Given the description of an element on the screen output the (x, y) to click on. 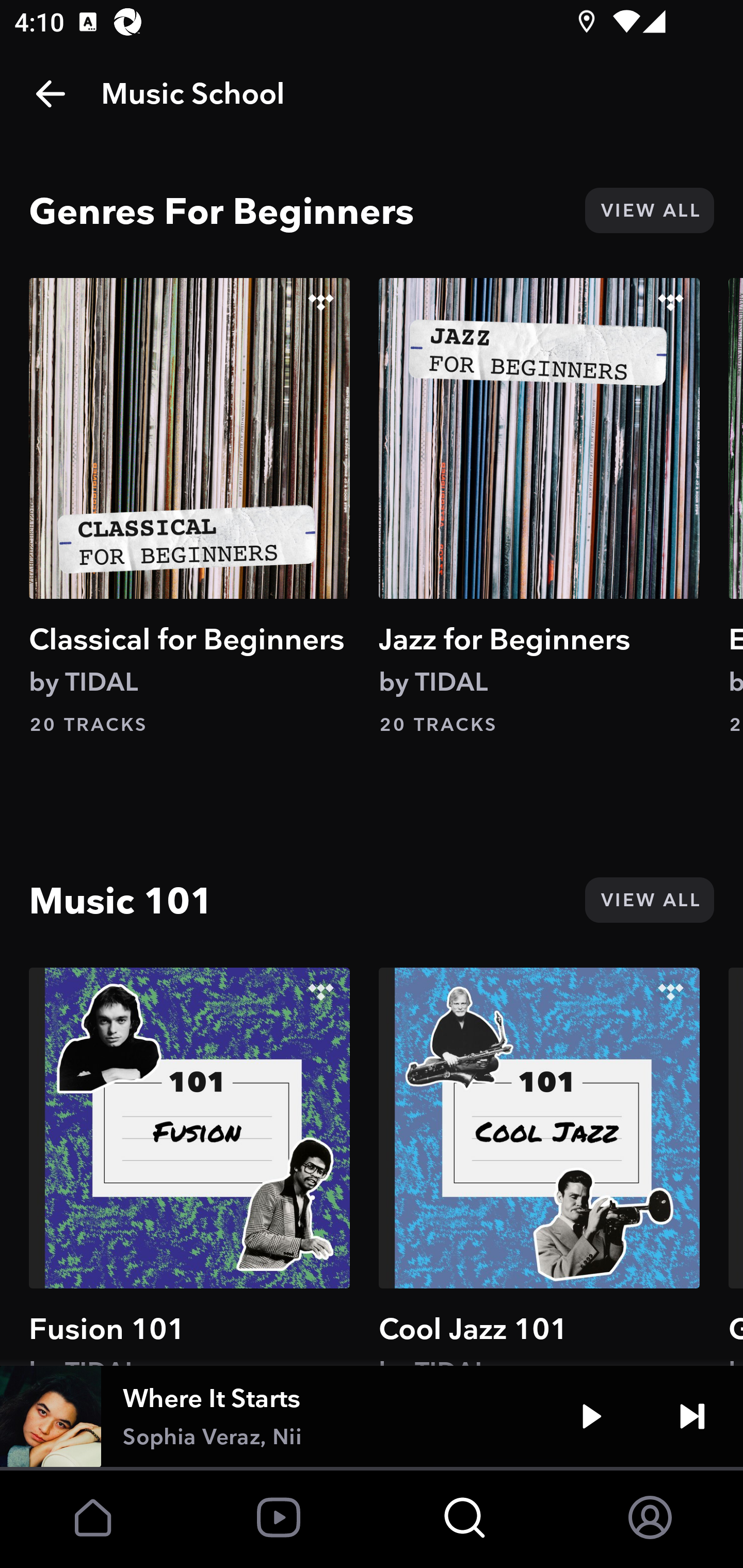
VIEW ALL (649, 210)
Classical for Beginners by TIDAL 20 TRACKS (188, 506)
Jazz for Beginners by TIDAL 20 TRACKS (538, 506)
VIEW ALL (649, 899)
Fusion 101 by TIDAL (188, 1166)
Cool Jazz 101 by TIDAL (538, 1166)
Where It Starts Sophia Veraz, Nii Play (371, 1416)
Play (590, 1416)
